Given the description of an element on the screen output the (x, y) to click on. 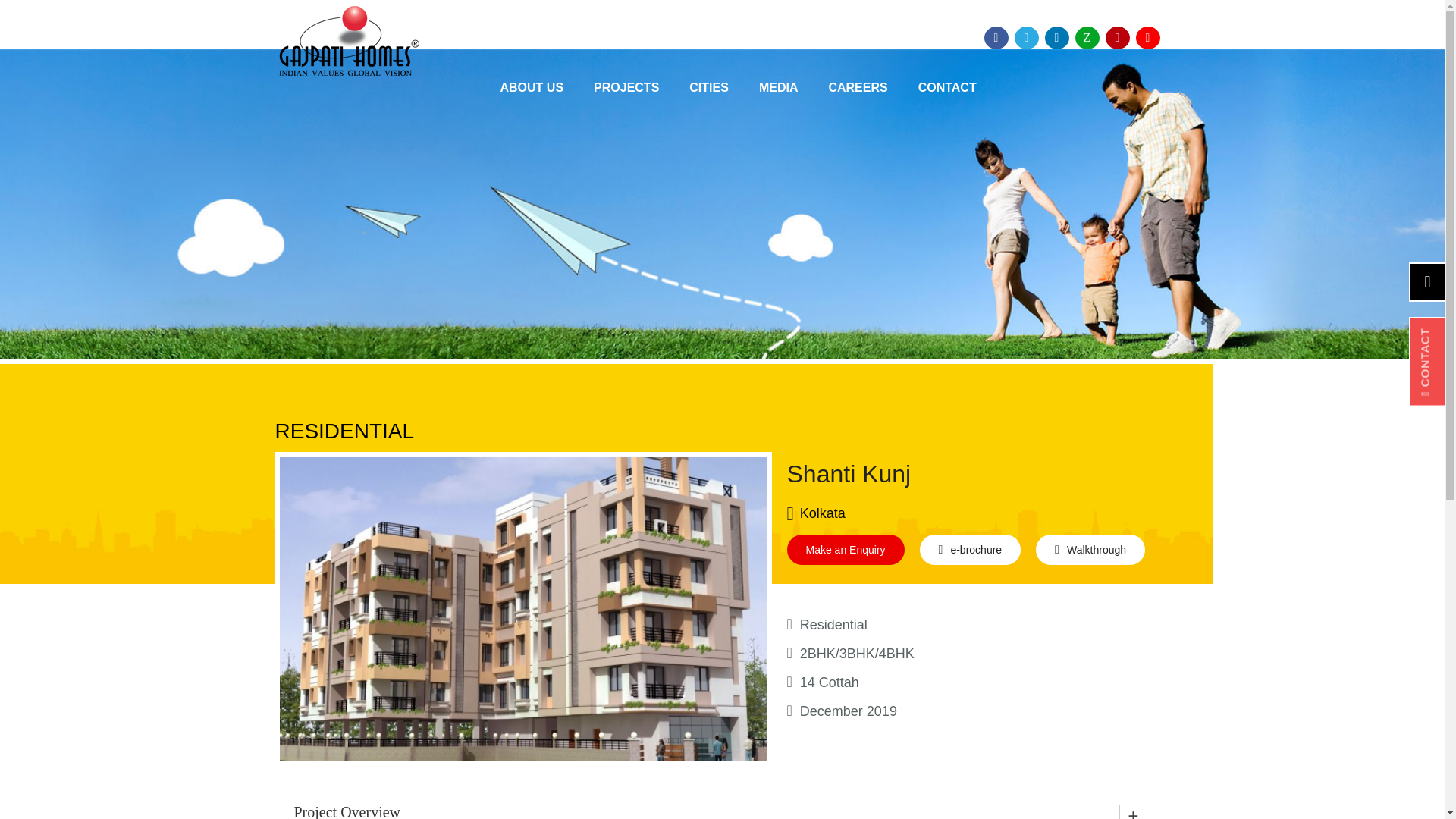
ABOUT US (531, 90)
CAREERS (857, 90)
Pinterest (1117, 37)
Youtube (1147, 37)
Make an Enquiry (845, 549)
Walkthrough (1089, 549)
Facebook (996, 37)
e-brochure (971, 549)
Zumvu (1087, 37)
Twitter (1026, 37)
